Given the description of an element on the screen output the (x, y) to click on. 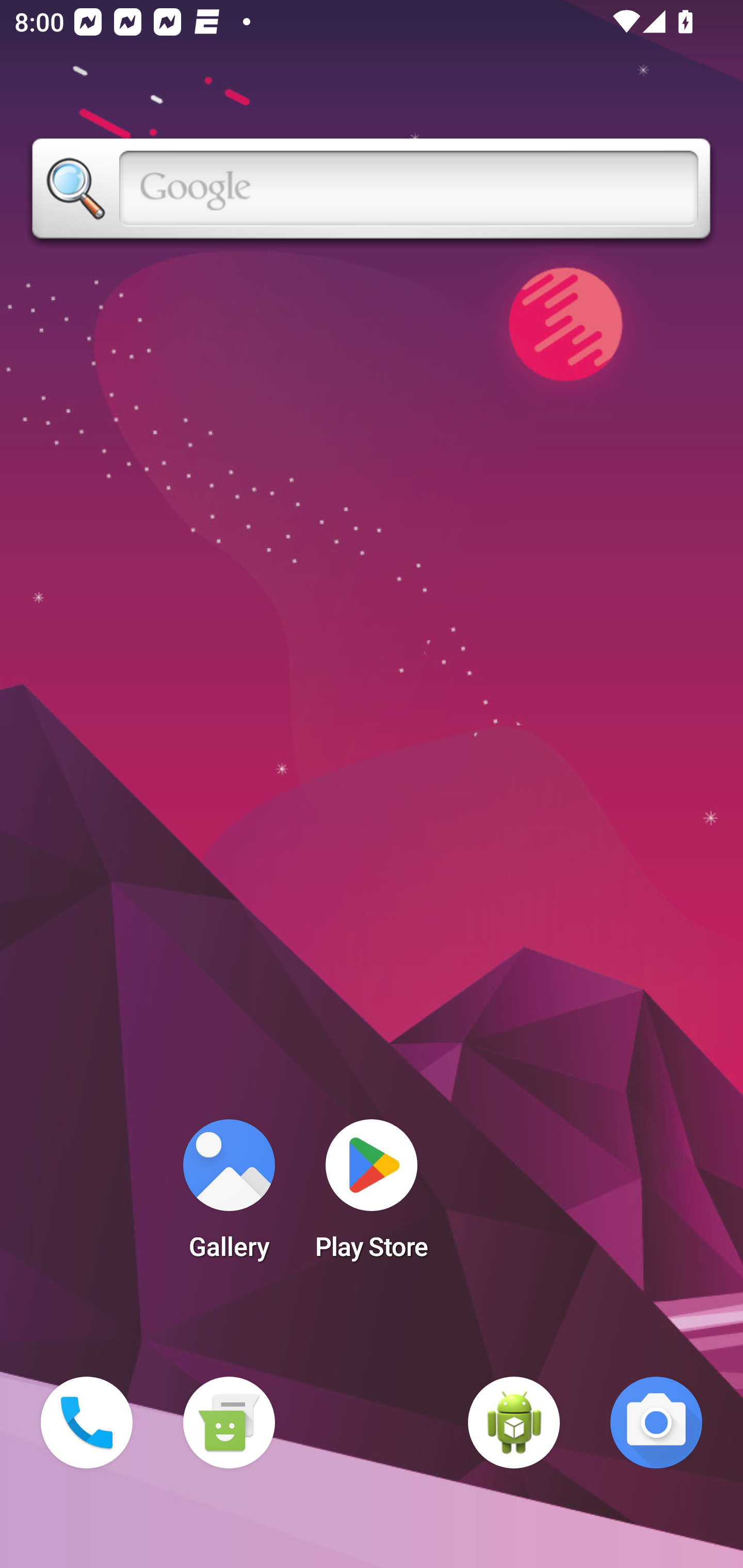
Gallery (228, 1195)
Play Store (371, 1195)
Phone (86, 1422)
Messaging (228, 1422)
WebView Browser Tester (513, 1422)
Camera (656, 1422)
